Given the description of an element on the screen output the (x, y) to click on. 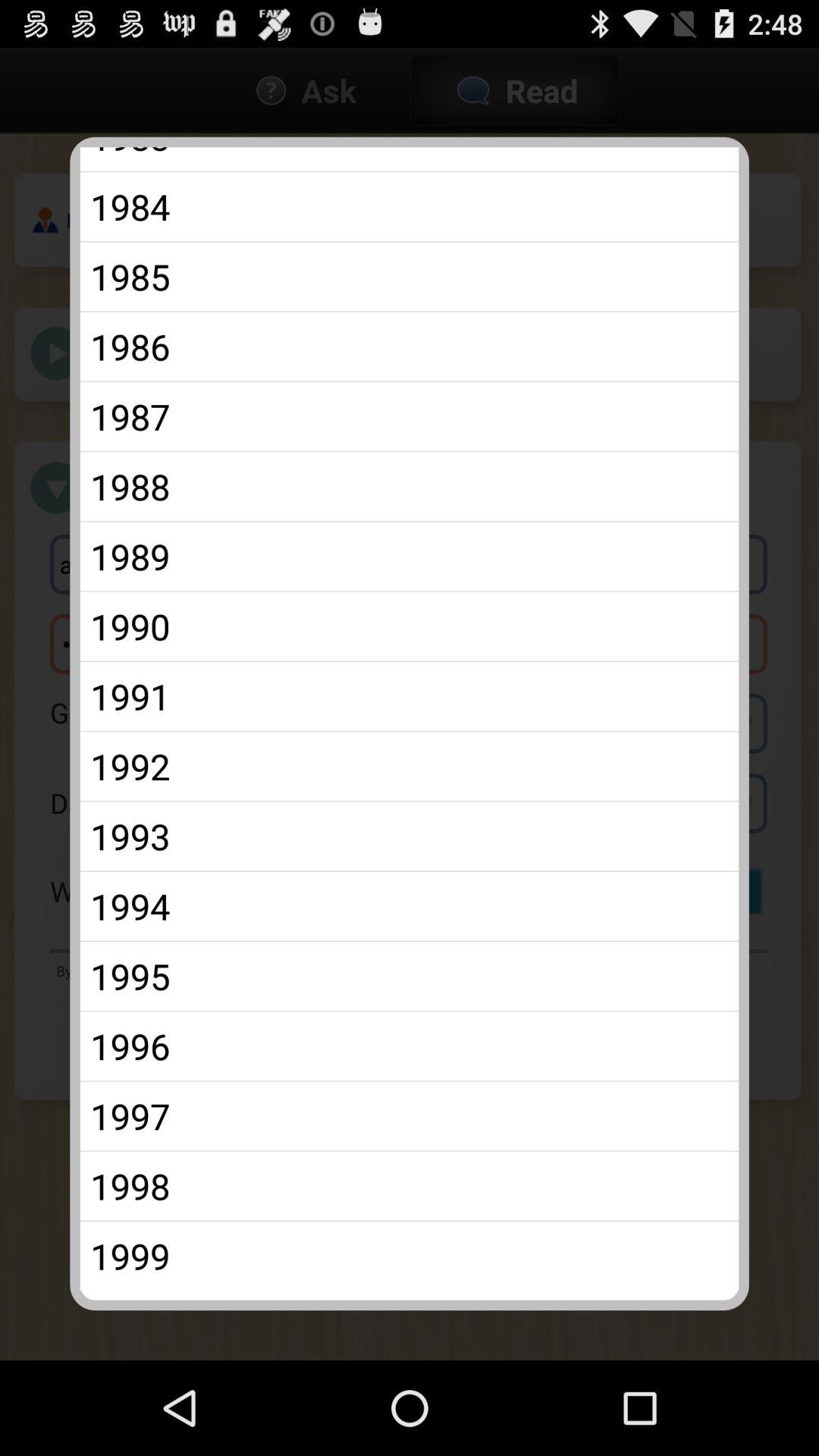
turn off the app above 1990 app (409, 556)
